Given the description of an element on the screen output the (x, y) to click on. 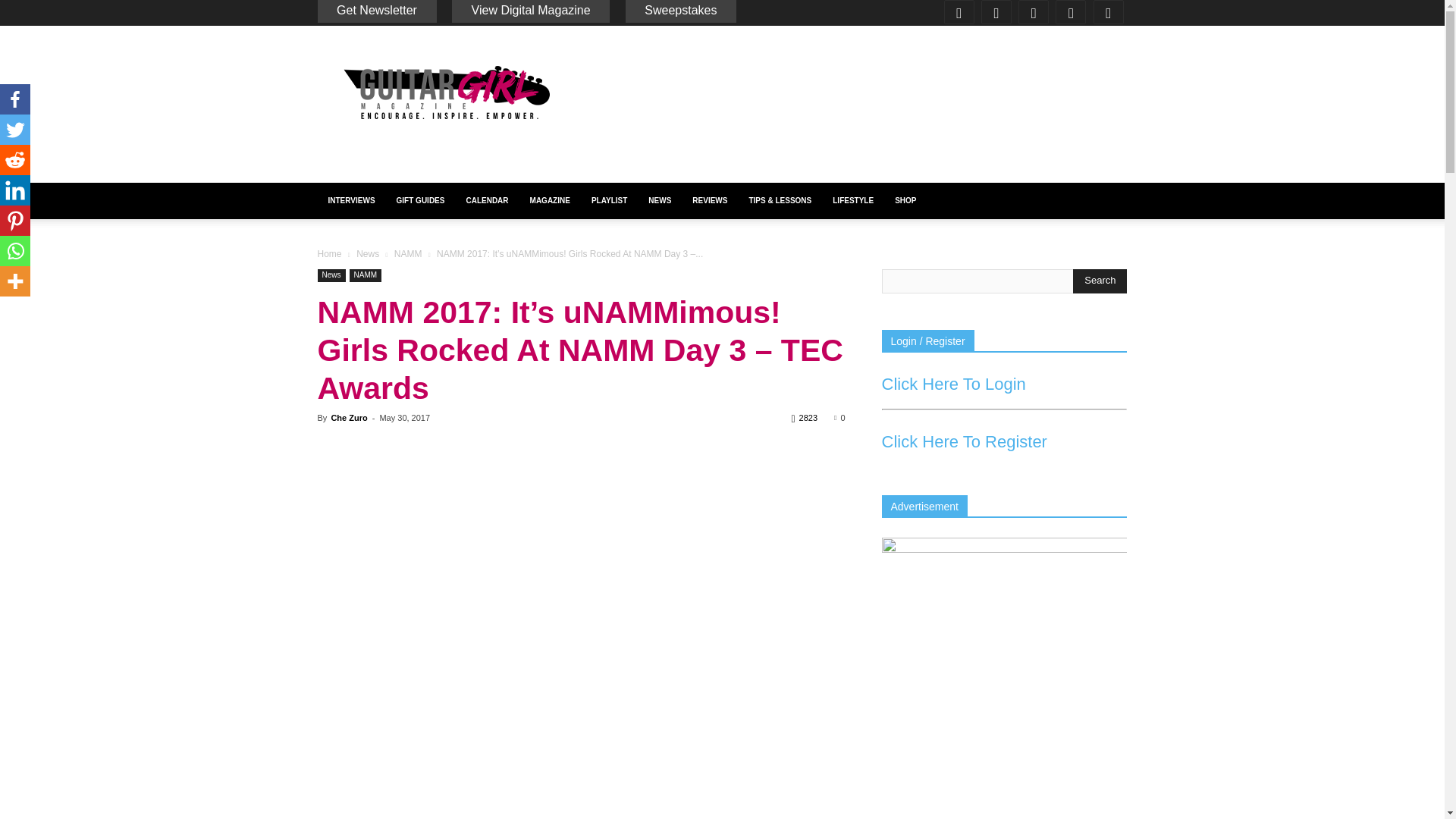
View all posts in News (367, 253)
View all posts in NAMM (408, 253)
Search (1099, 281)
Youtube (1109, 12)
Twitter (1072, 12)
Pinterest (1034, 12)
Guitar Girl Magazine (445, 92)
Facebook (960, 12)
Instagram (997, 12)
